Given the description of an element on the screen output the (x, y) to click on. 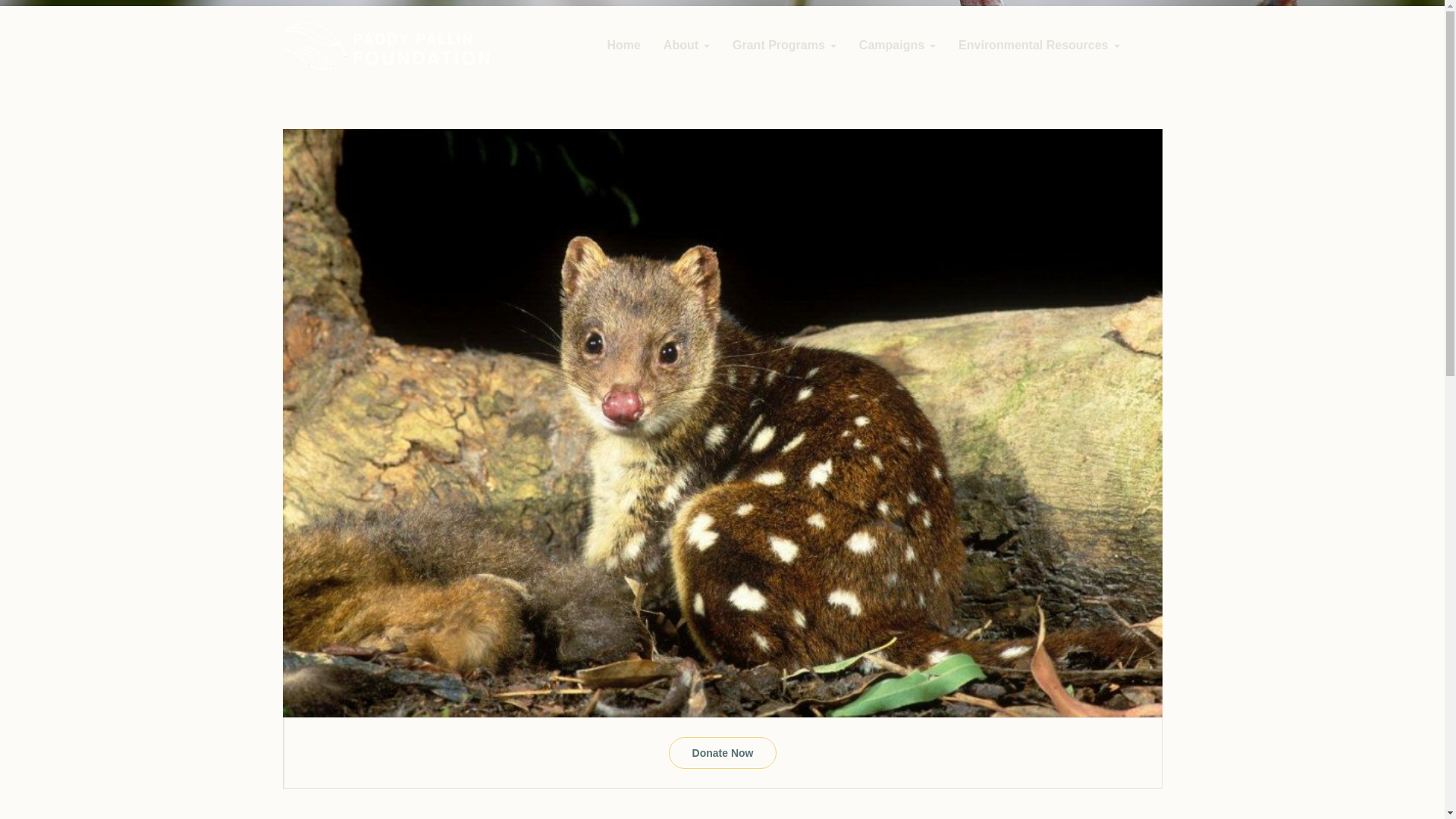
Donate Now (722, 753)
About (686, 45)
Campaigns (897, 45)
Grant Programs (783, 45)
Home (622, 45)
Environmental Resources (1039, 45)
